Given the description of an element on the screen output the (x, y) to click on. 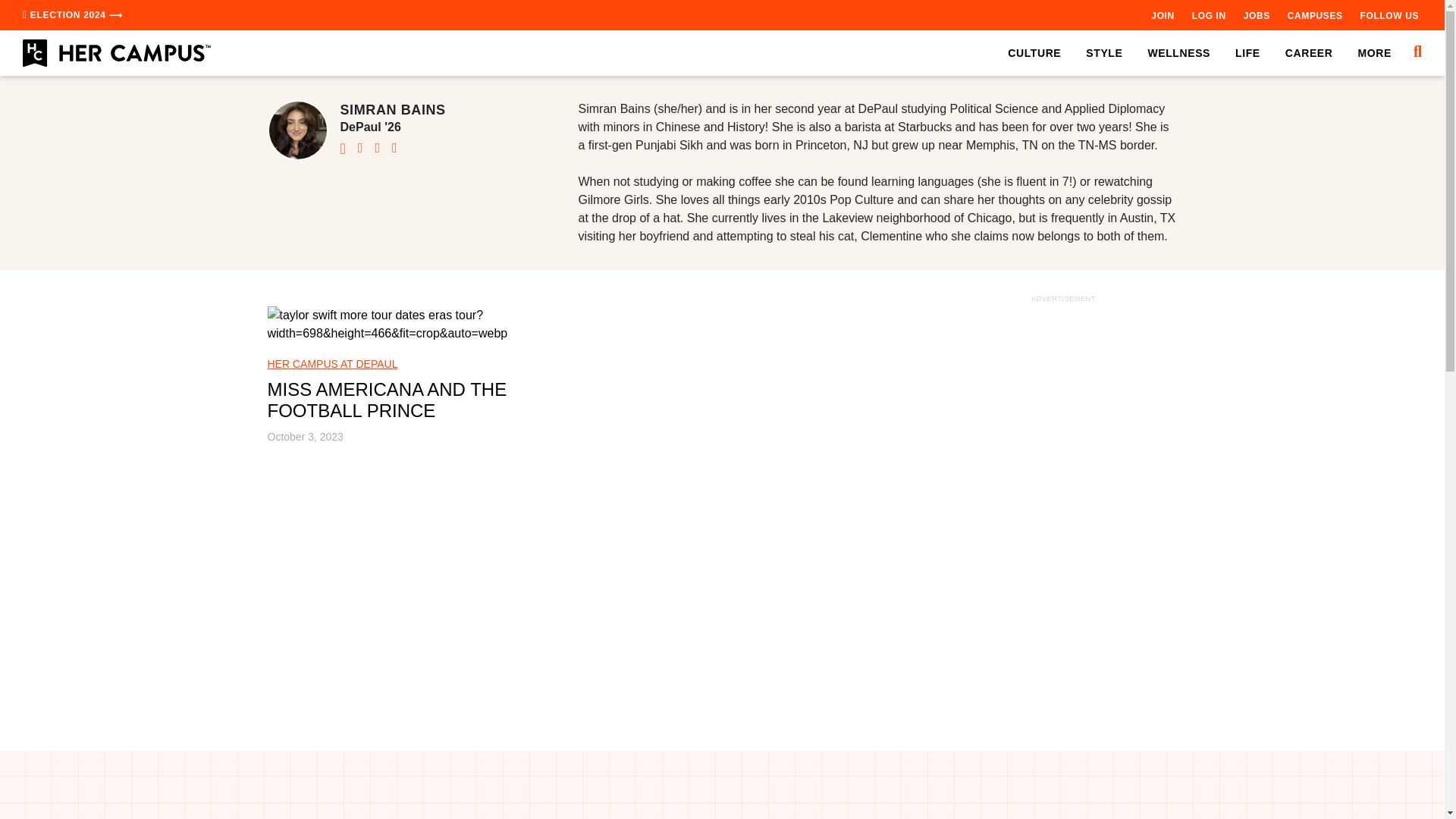
JOIN (1162, 15)
CAMPUSES (1314, 15)
JOBS (1256, 15)
LOG IN (1208, 15)
Miss Americana and the Football Prince 1 (425, 324)
